Given the description of an element on the screen output the (x, y) to click on. 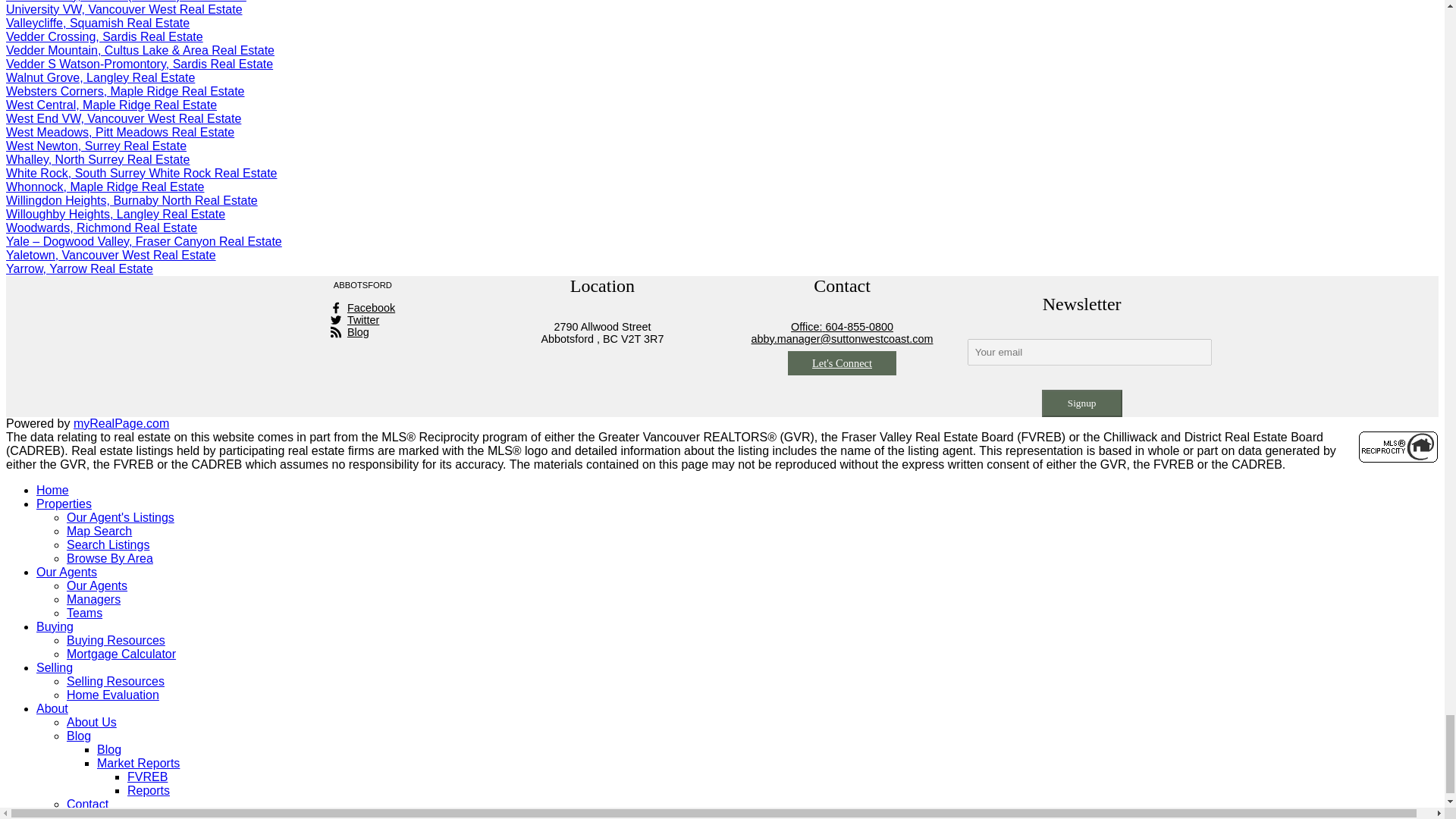
Facebook (363, 307)
Blog (363, 331)
Twitter (363, 319)
